Given the description of an element on the screen output the (x, y) to click on. 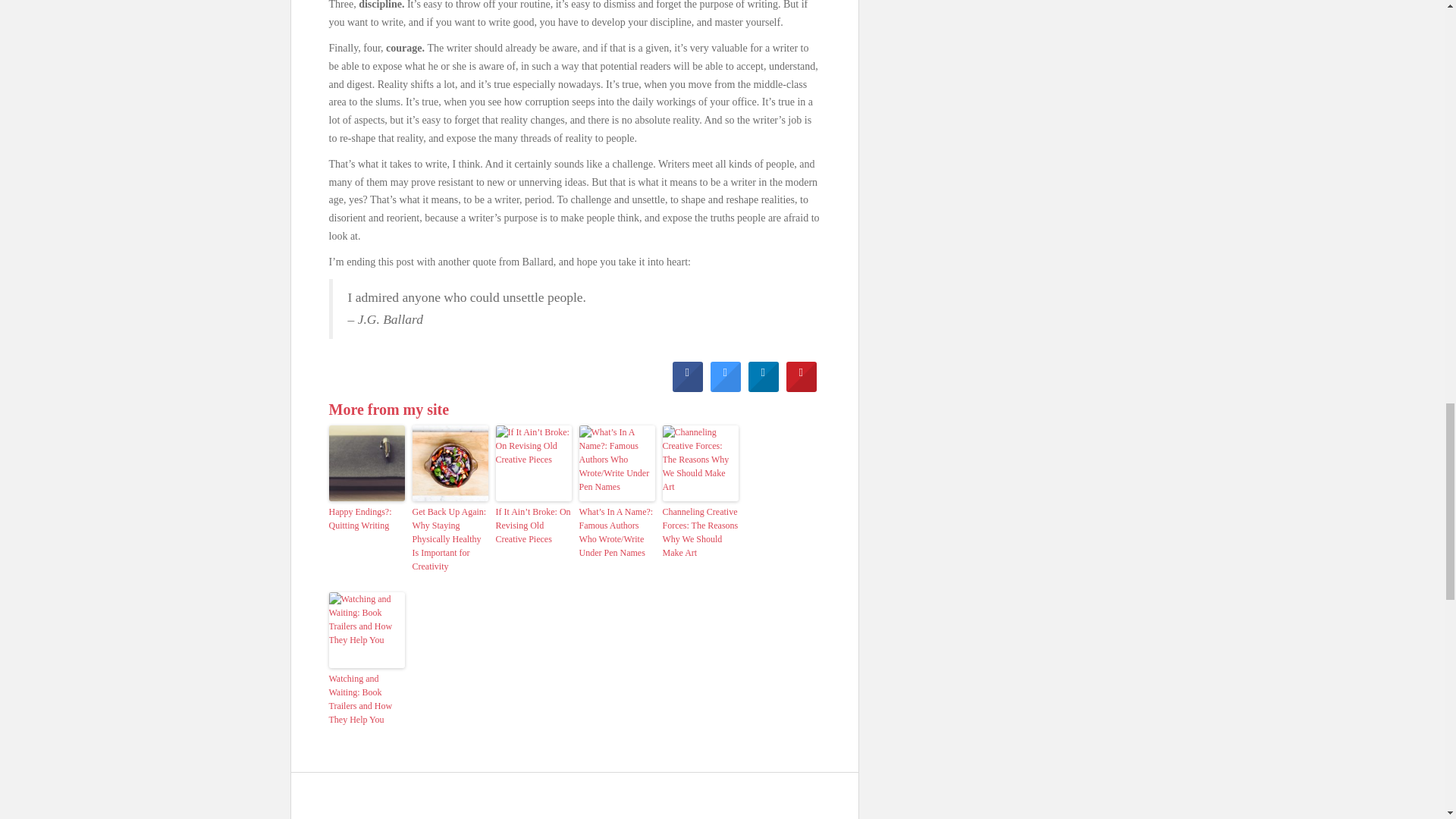
Share to LinkedIn (762, 387)
Watching and Waiting: Book Trailers and How They Help You (366, 698)
Happy Endings?: Quitting Writing (366, 518)
Share on Facebook (686, 387)
Share on Twitter (724, 387)
Share on Pinterest (800, 387)
